Given the description of an element on the screen output the (x, y) to click on. 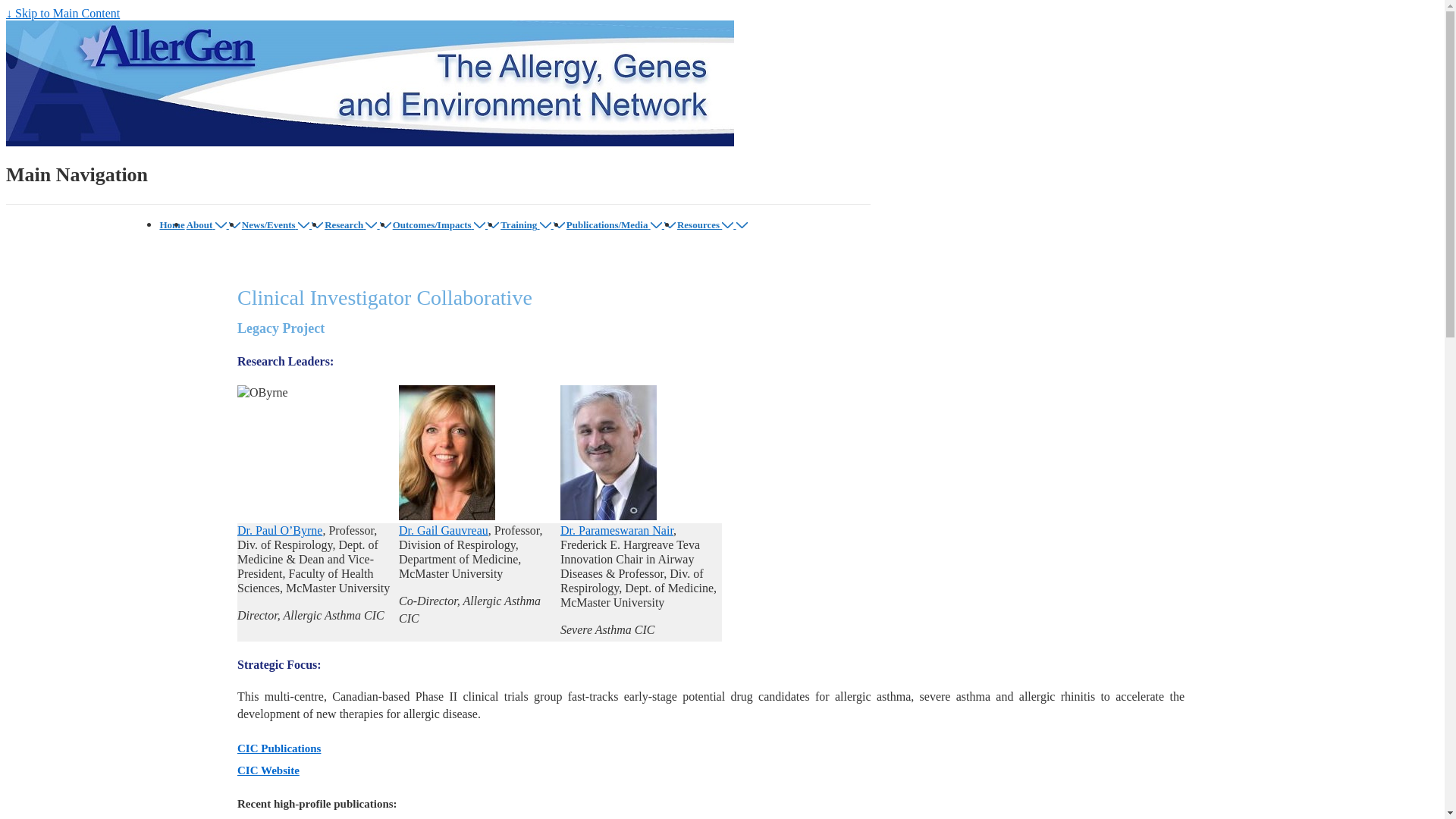
CIC Publications Element type: text (278, 748)
Dr. Parameswaran Nair Element type: text (616, 530)
About Element type: text (207, 224)
Research Element type: text (351, 224)
Training Element type: text (526, 224)
Publications/Media Element type: text (615, 224)
CIC Website Element type: text (268, 770)
Resources Element type: text (706, 224)
Home Element type: text (171, 224)
News/Events Element type: text (276, 224)
Dr. Gail Gauvreau Element type: text (443, 530)
Outcomes/Impacts Element type: text (440, 224)
